Given the description of an element on the screen output the (x, y) to click on. 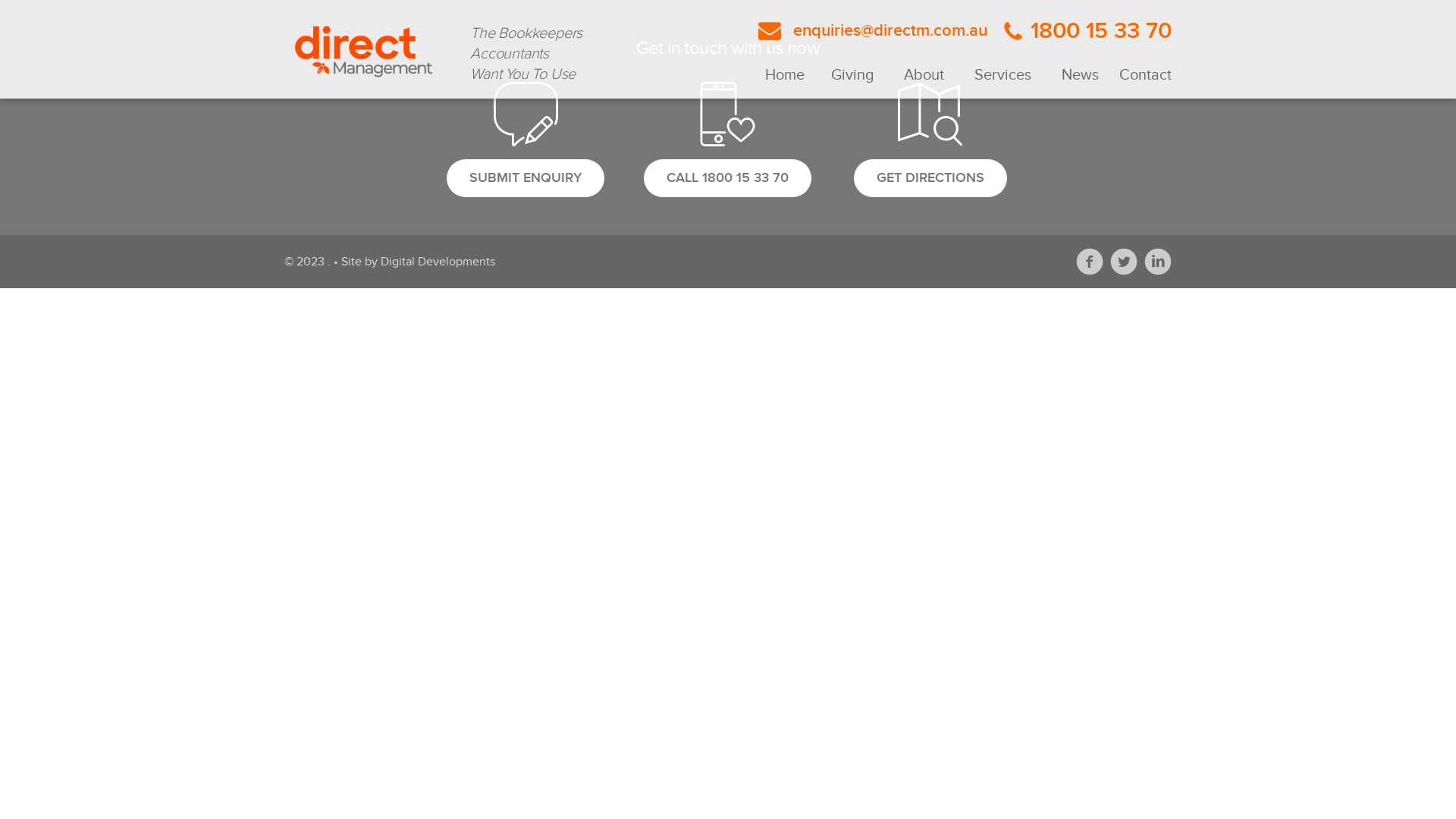
Digital Developments Element type: text (437, 261)
Home Element type: text (790, 74)
About Element type: text (923, 74)
SUBMIT ENQUIRY Element type: text (525, 178)
CALL 1800 15 33 70 Element type: text (727, 178)
1800 15 33 70 Element type: text (1080, 30)
News Element type: text (1079, 74)
GET DIRECTIONS Element type: text (930, 178)
Services Element type: text (1002, 74)
Giving Element type: text (851, 74)
Contact Element type: text (1142, 74)
enquiries@directm.com.au Element type: text (872, 30)
